Given the description of an element on the screen output the (x, y) to click on. 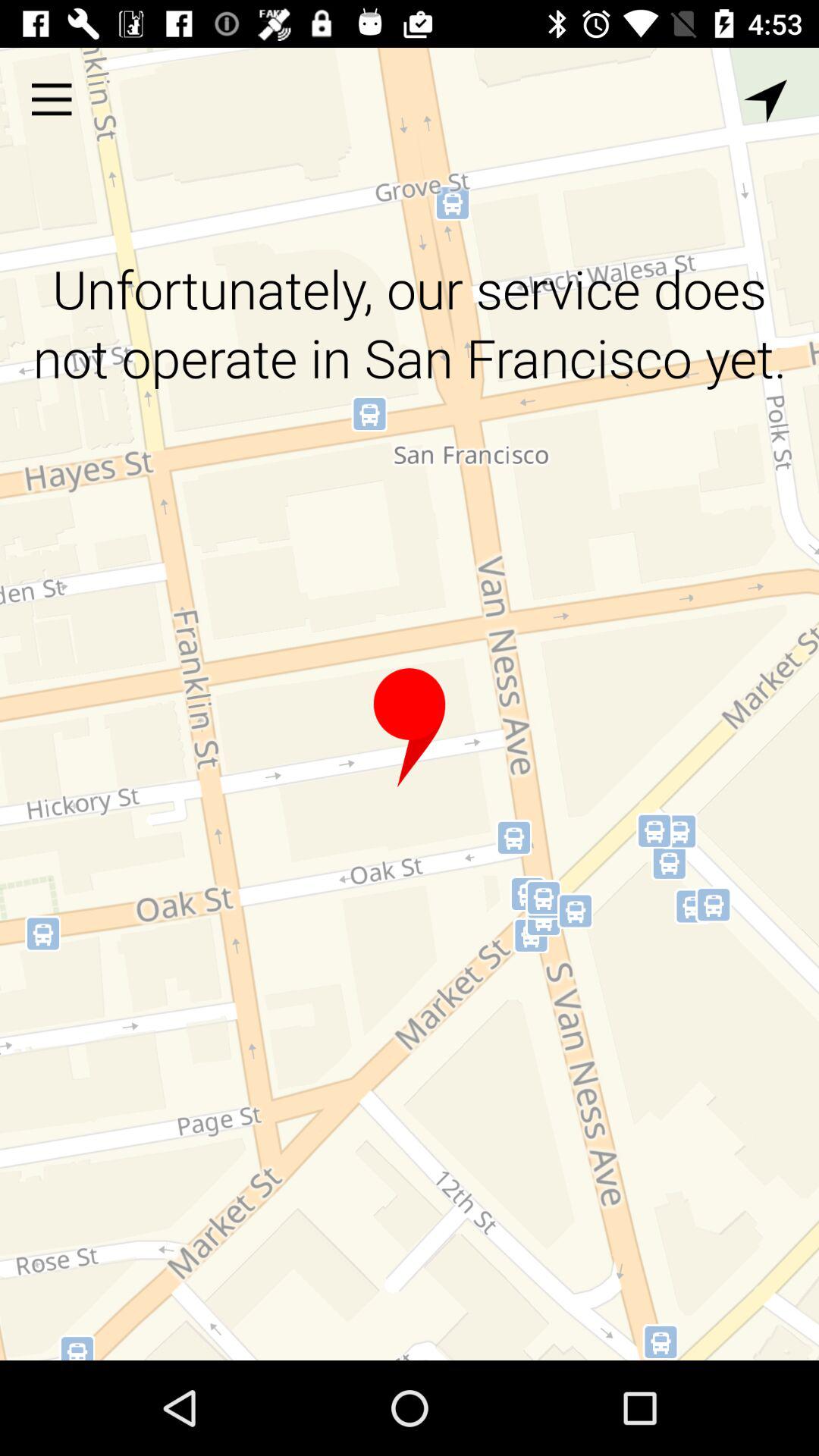
opens a menu (51, 99)
